Given the description of an element on the screen output the (x, y) to click on. 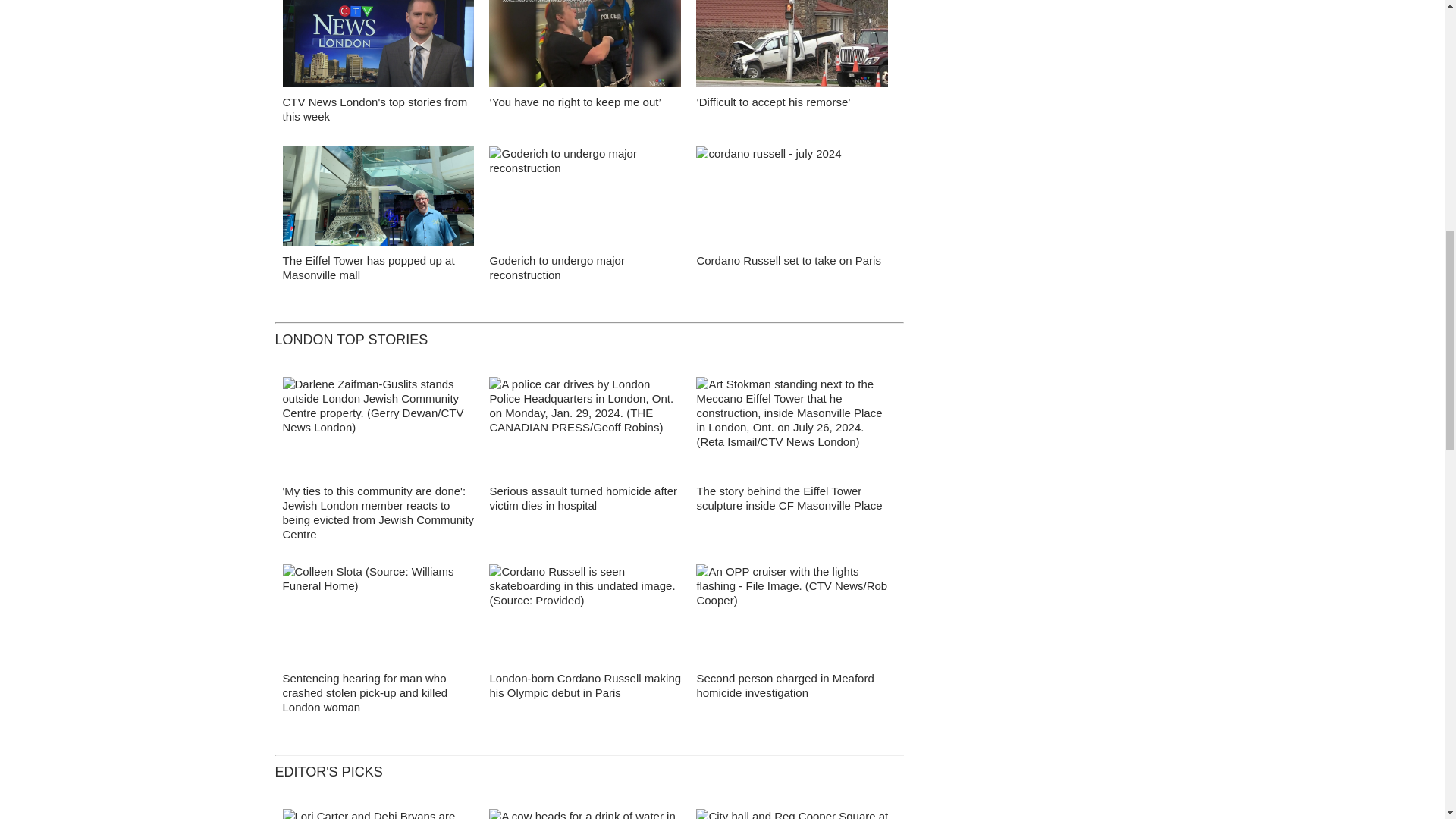
false (378, 195)
false (791, 43)
false (585, 195)
CTV News London's top stories from this week (374, 108)
cordano russell - video still (585, 617)
ldn icymi carlyle july 26 (378, 47)
Art Stokman  (791, 430)
cordano russell - july 2024 (791, 199)
colleen slota - london crash - april 2023 (378, 617)
London police  (585, 430)
false (791, 195)
The Eiffel Tower has popped up at Masonville mall (368, 267)
